Given the description of an element on the screen output the (x, y) to click on. 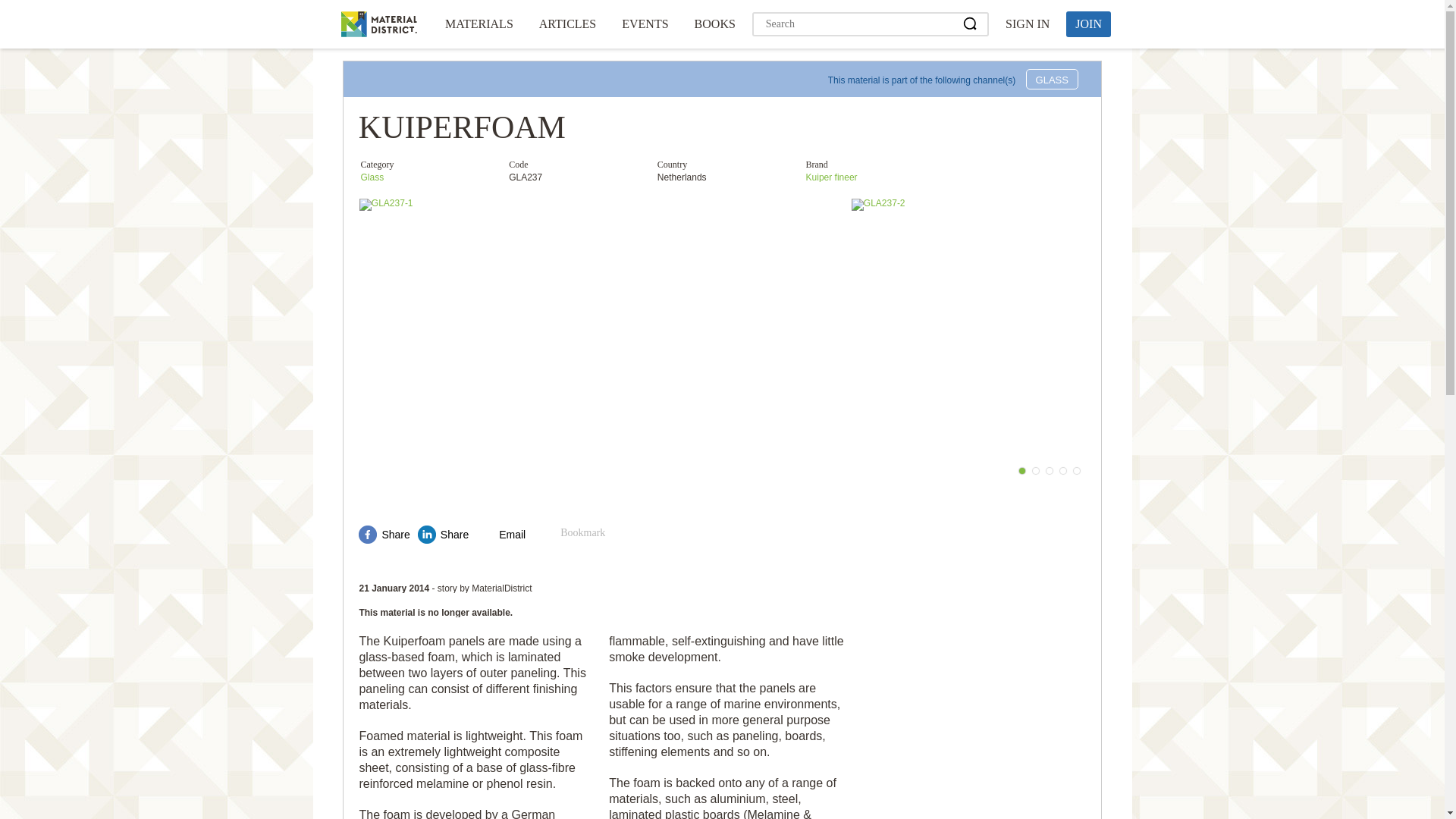
BOOKS (714, 23)
Bookmark (572, 534)
MaterialDistrict (378, 23)
Stuur deze pagina per email (500, 534)
Share (383, 534)
SIGN IN (1026, 23)
Glass (371, 176)
Search (970, 24)
ARTICLES (567, 23)
EVENTS (644, 23)
